Given the description of an element on the screen output the (x, y) to click on. 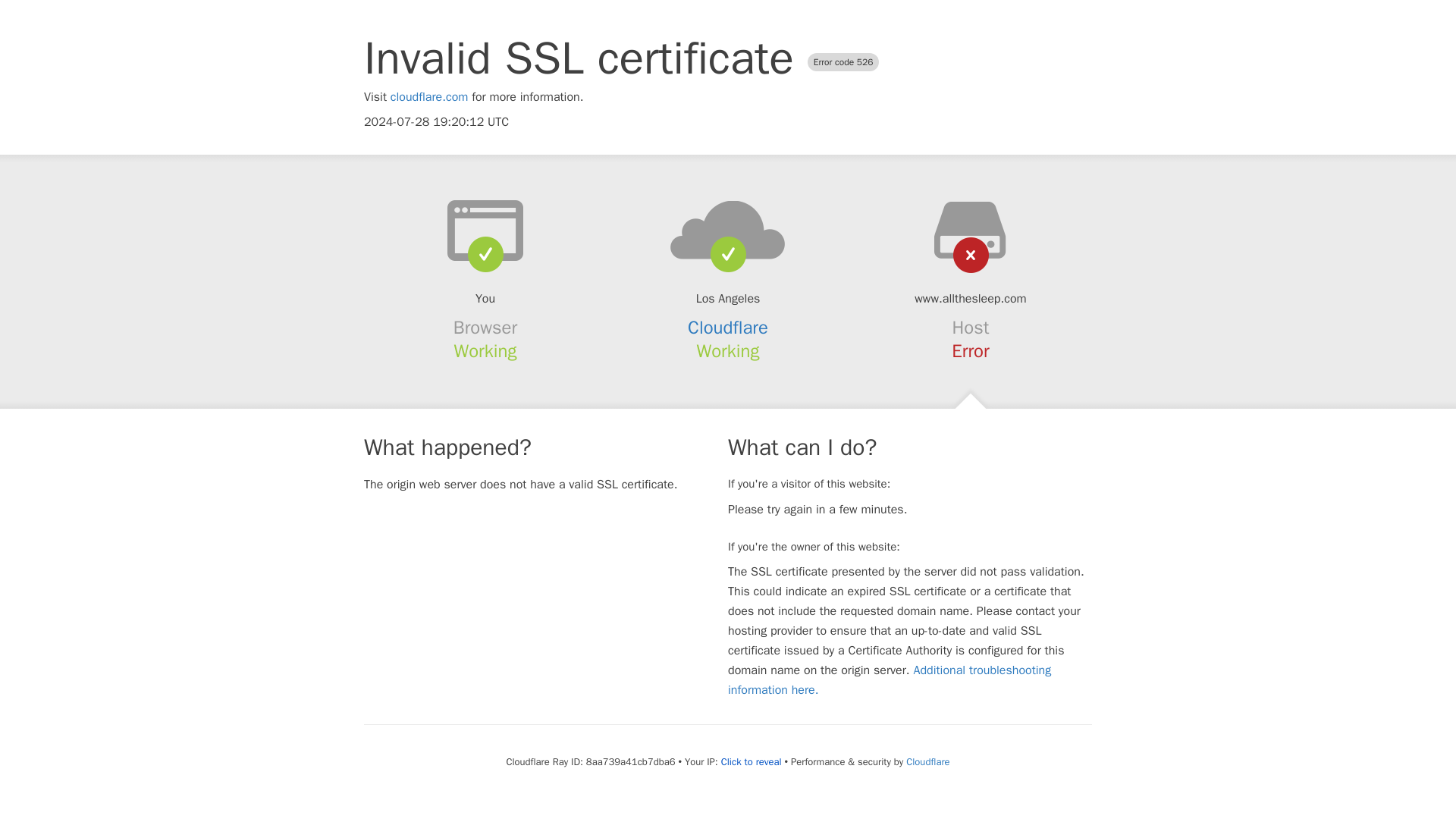
Cloudflare (927, 761)
Additional troubleshooting information here. (889, 679)
Cloudflare (727, 327)
Click to reveal (750, 762)
cloudflare.com (429, 96)
